Given the description of an element on the screen output the (x, y) to click on. 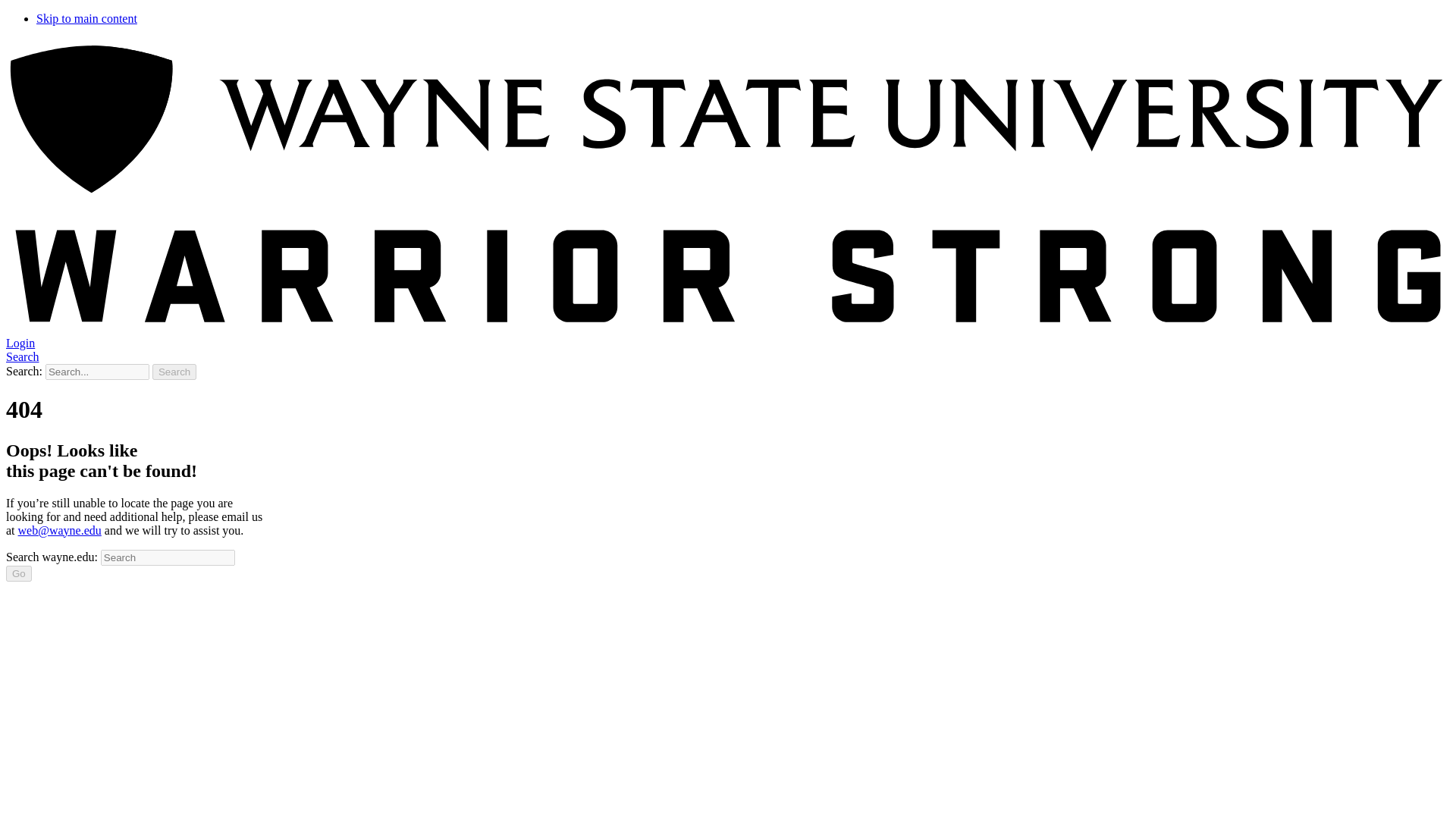
Skip to main content (86, 18)
Search (22, 356)
Login (19, 342)
Search (174, 371)
